Given the description of an element on the screen output the (x, y) to click on. 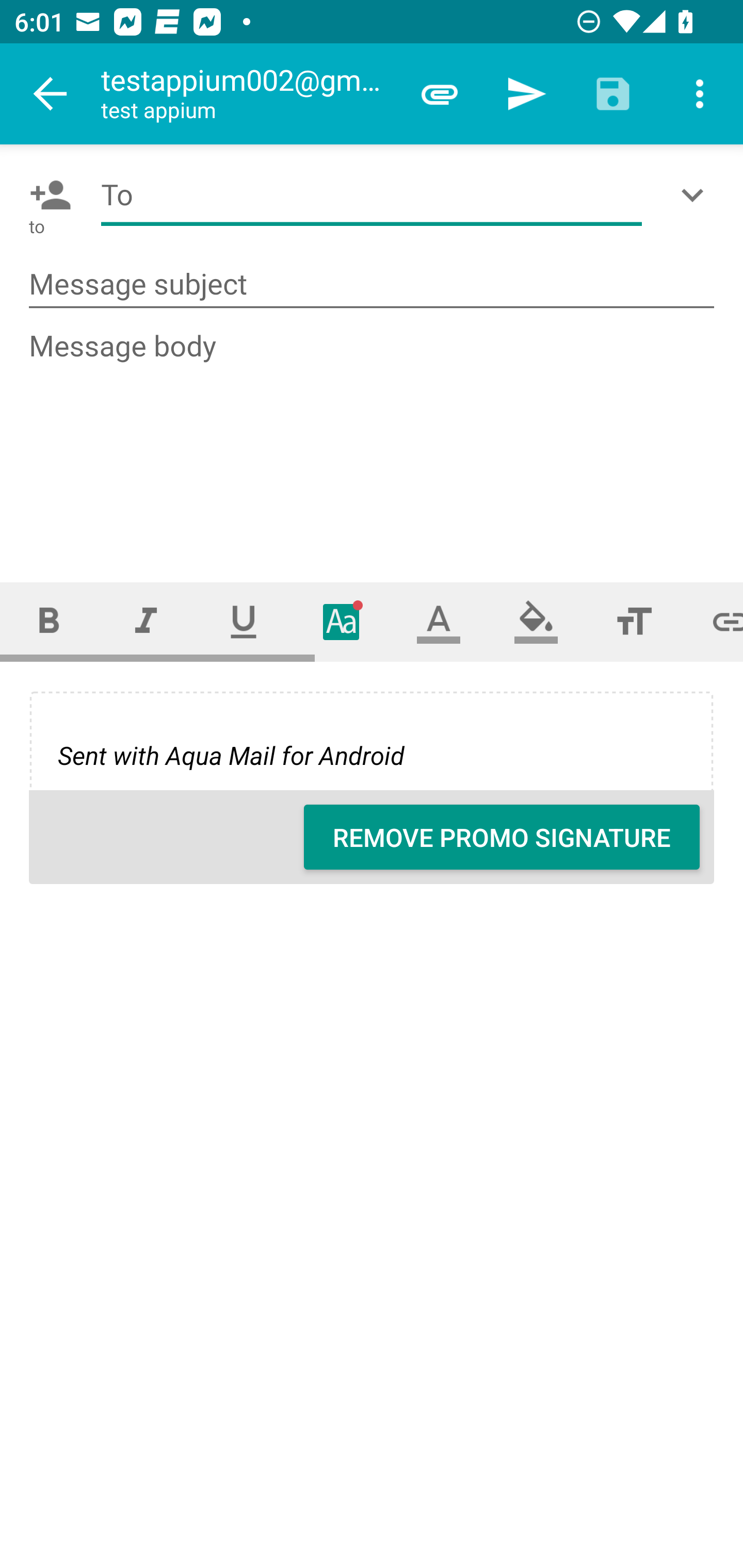
Navigate up (50, 93)
testappium002@gmail.com test appium (248, 93)
Attach (439, 93)
Send (525, 93)
Save (612, 93)
More options (699, 93)
Pick contact: To (46, 195)
Show/Add CC/BCC (696, 195)
To (371, 195)
Message subject (371, 284)
Bold (48, 621)
Italic (145, 621)
Underline (243, 621)
Typeface (font) (341, 621)
Text color (438, 621)
Fill color (536, 621)
Font size (633, 621)
REMOVE PROMO SIGNATURE (501, 837)
